Given the description of an element on the screen output the (x, y) to click on. 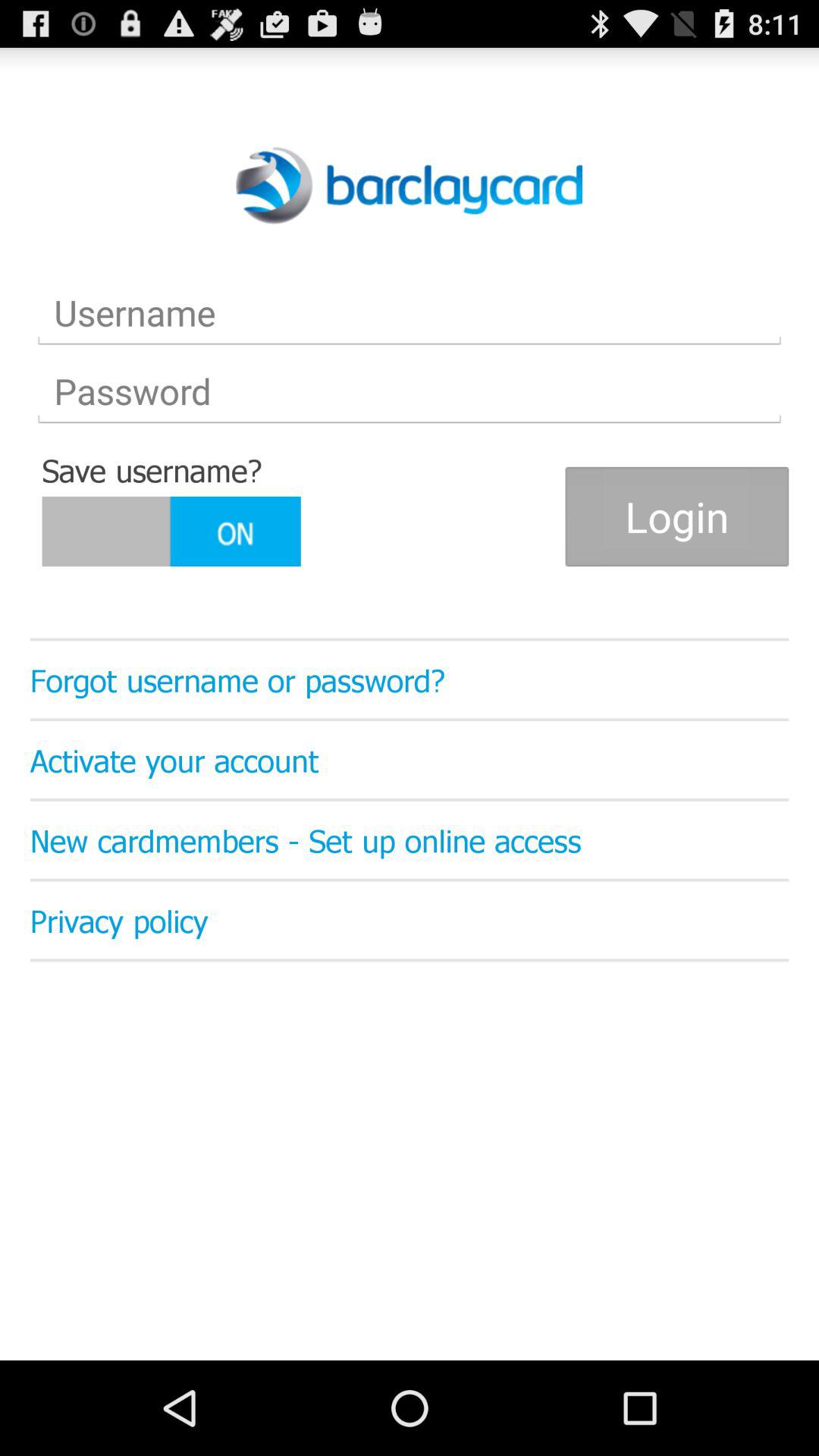
turn on activate your account (409, 759)
